Given the description of an element on the screen output the (x, y) to click on. 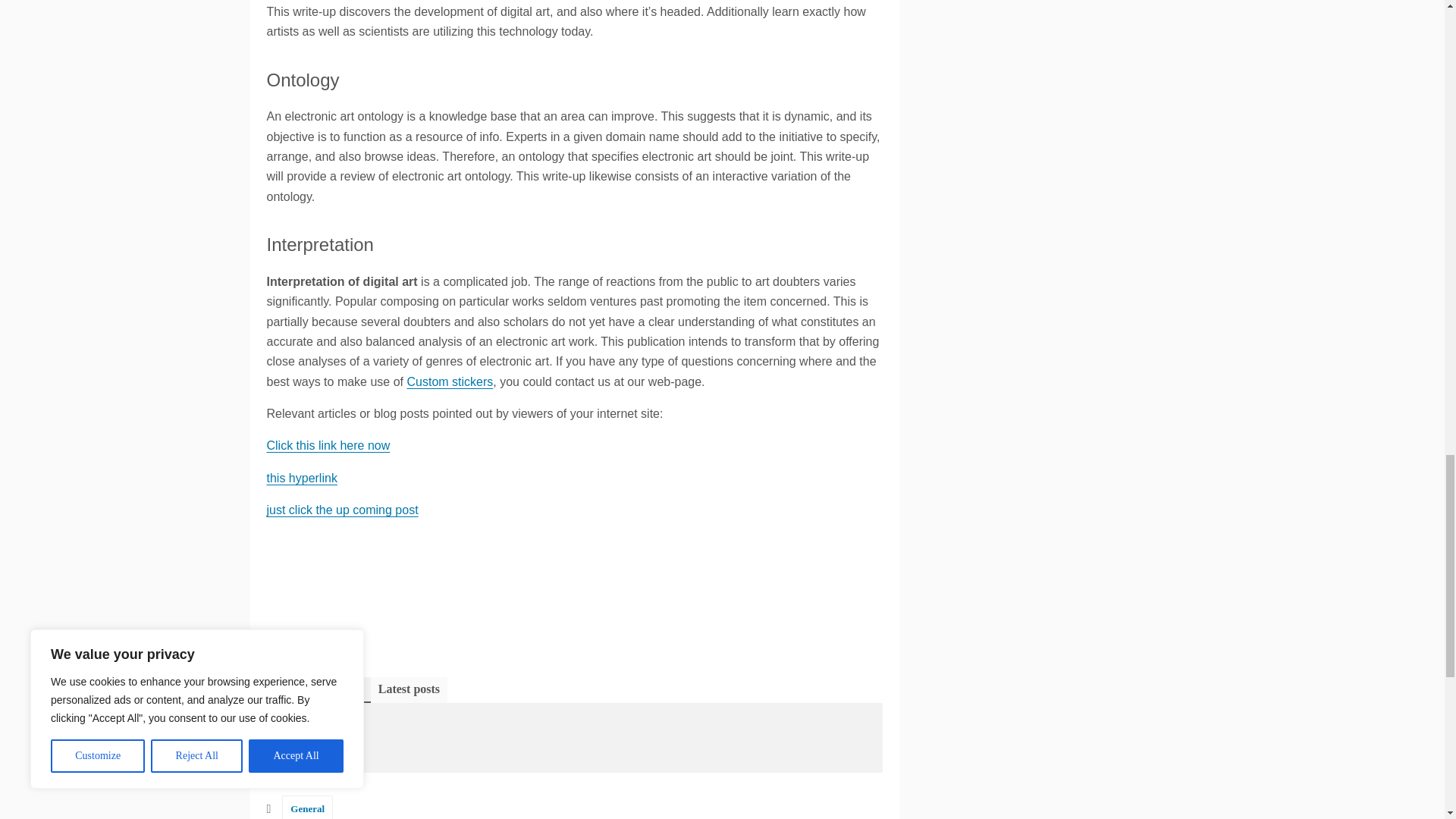
Custom stickers (449, 381)
just click the up coming post (342, 509)
Click this link here now (328, 445)
this hyperlink (301, 477)
General (307, 807)
